Given the description of an element on the screen output the (x, y) to click on. 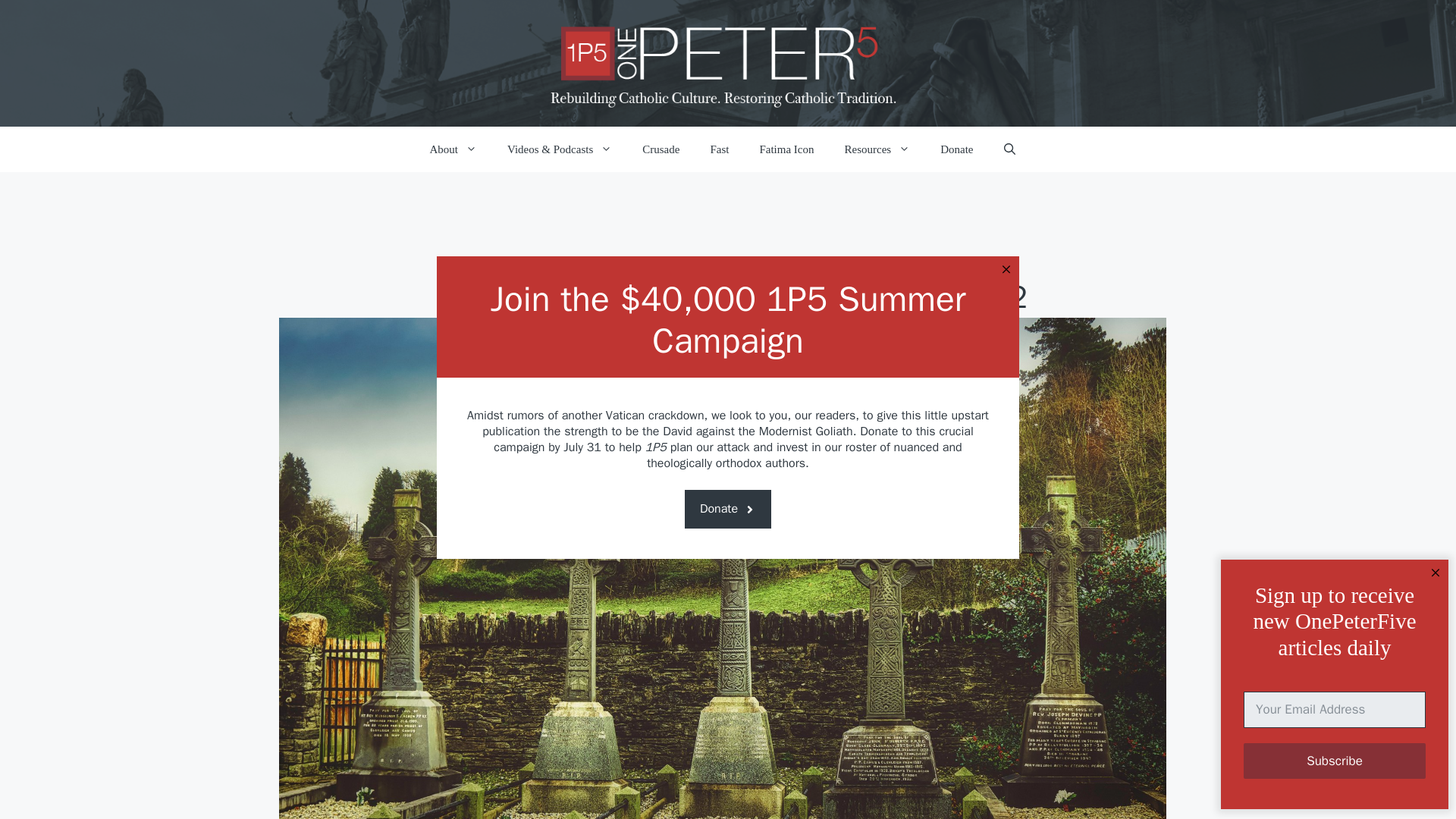
About (452, 148)
